Given the description of an element on the screen output the (x, y) to click on. 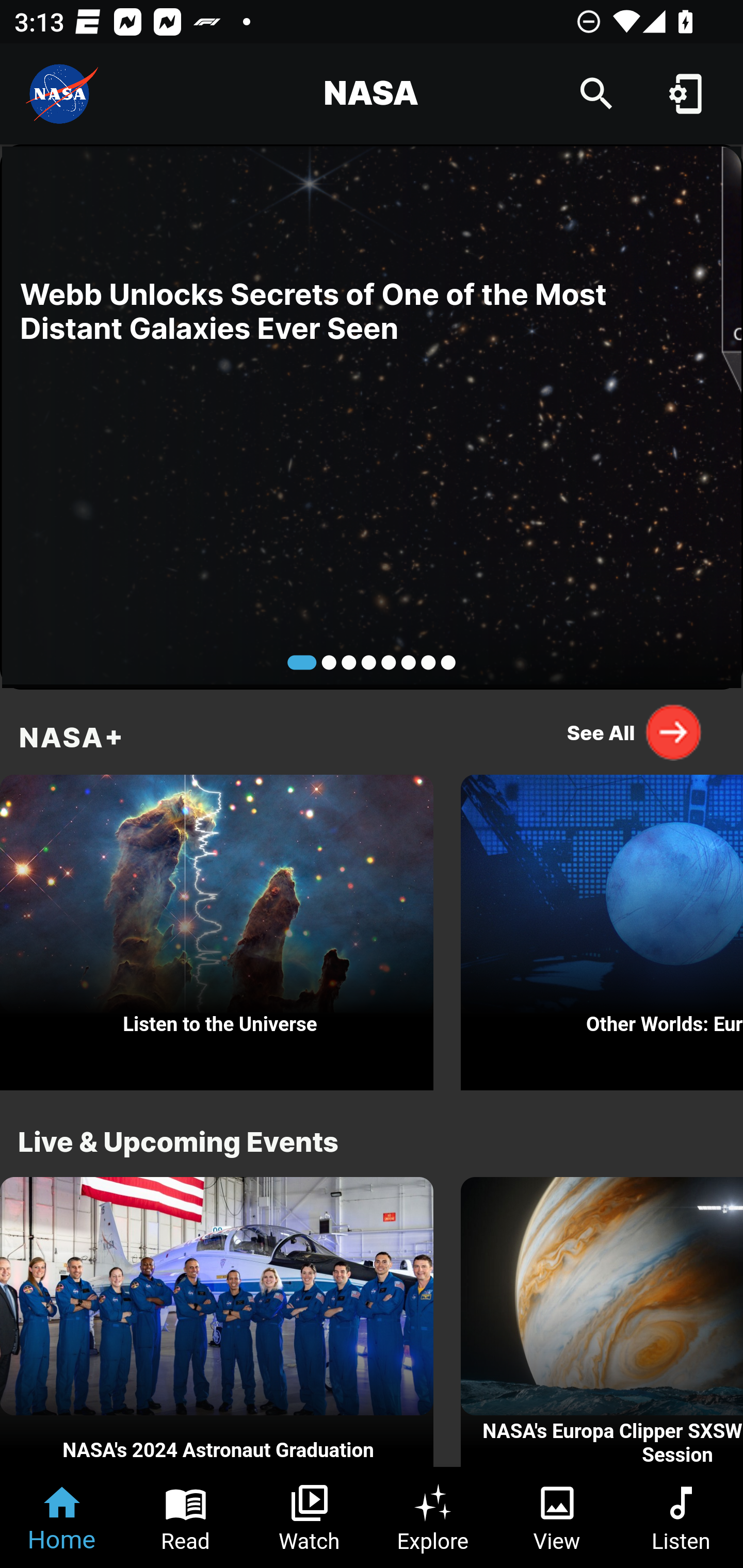
See All (634, 732)
Listen to the Universe (216, 927)
Other Worlds: Europa (601, 927)
NASA's 2024 Astronaut Graduation (216, 1322)
NASA's Europa Clipper SXSW 2024 Opening Session (601, 1322)
Home
Tab 1 of 6 (62, 1517)
Read
Tab 2 of 6 (185, 1517)
Watch
Tab 3 of 6 (309, 1517)
Explore
Tab 4 of 6 (433, 1517)
View
Tab 5 of 6 (556, 1517)
Listen
Tab 6 of 6 (680, 1517)
